Given the description of an element on the screen output the (x, y) to click on. 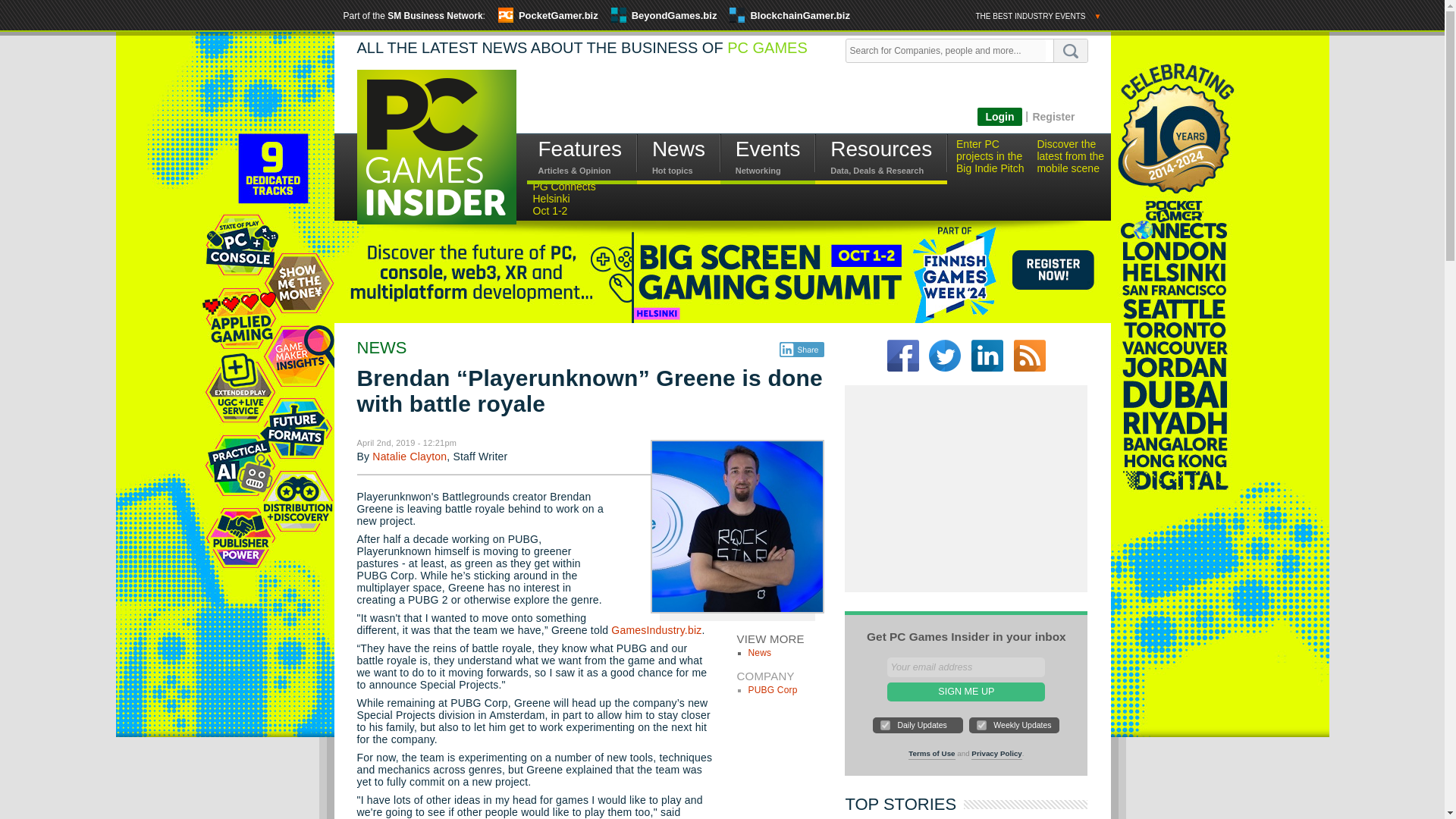
1 (884, 725)
2 (981, 725)
Register (1053, 116)
PC Games Insider (435, 159)
SIGN ME UP (965, 691)
Login (999, 116)
PC Games Insider (435, 146)
